Given the description of an element on the screen output the (x, y) to click on. 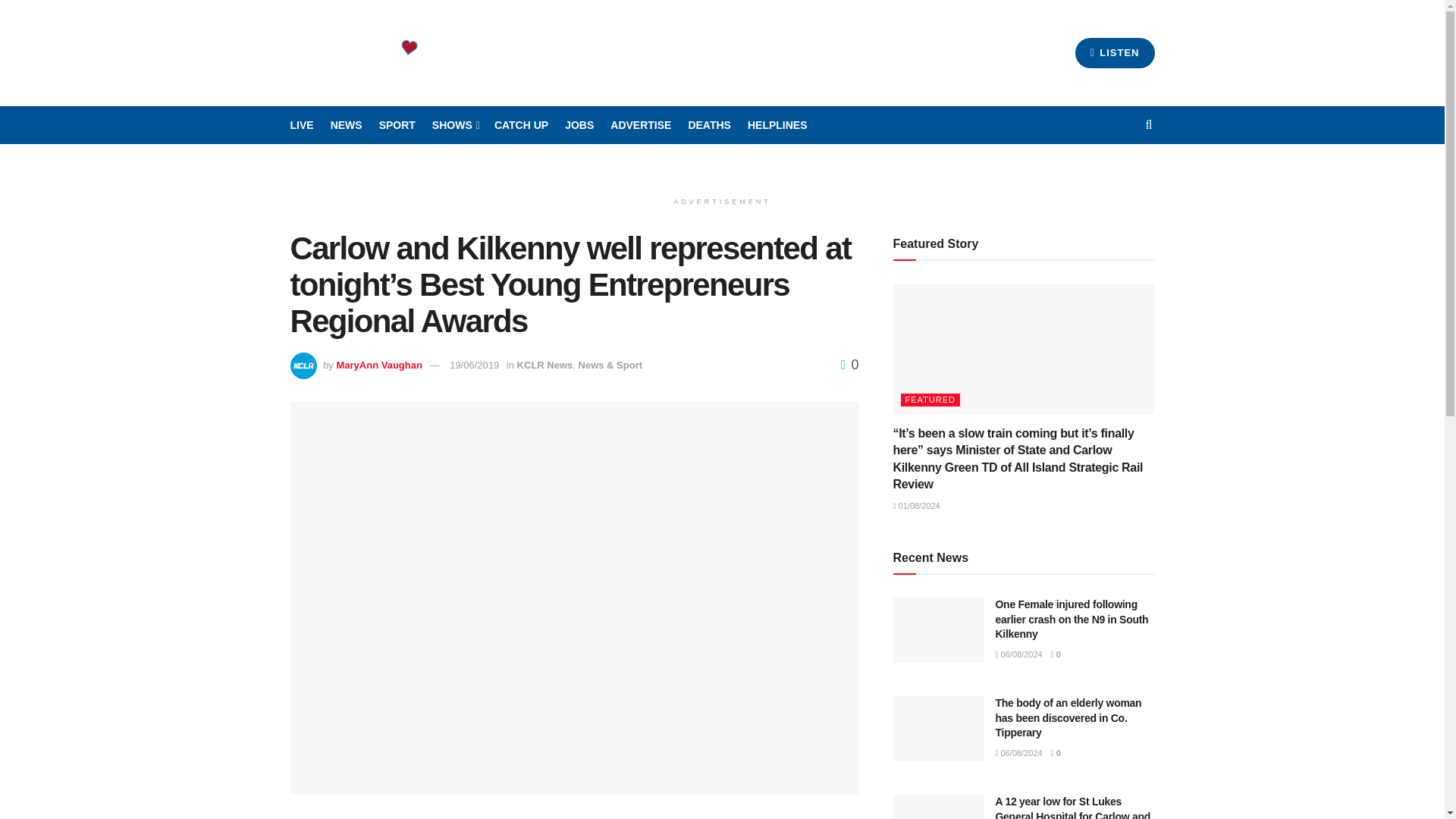
CATCH UP (521, 125)
LISTEN (1114, 52)
Listen back to KCLR shows (521, 125)
ADVERTISE (640, 125)
HELPLINES (778, 125)
SHOWS (454, 125)
KCLR Sport on Scoreline.ie (396, 125)
DEATHS (708, 125)
Carlow and Kilkenny Death Notices (708, 125)
SPORT (396, 125)
